Given the description of an element on the screen output the (x, y) to click on. 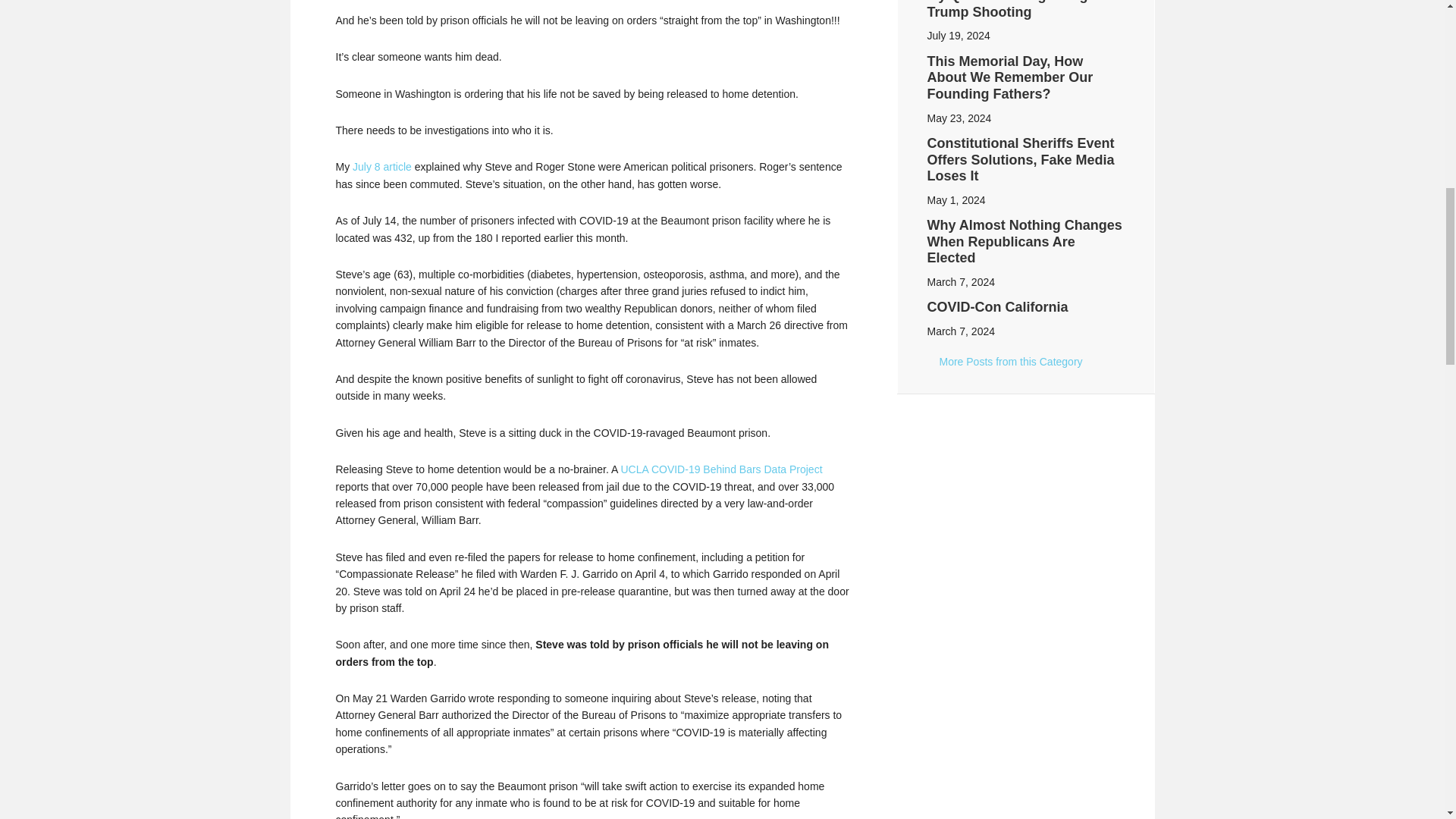
July 8 article (382, 166)
UCLA COVID-19 Behind Bars Data Project (721, 469)
1News (1003, 363)
